Given the description of an element on the screen output the (x, y) to click on. 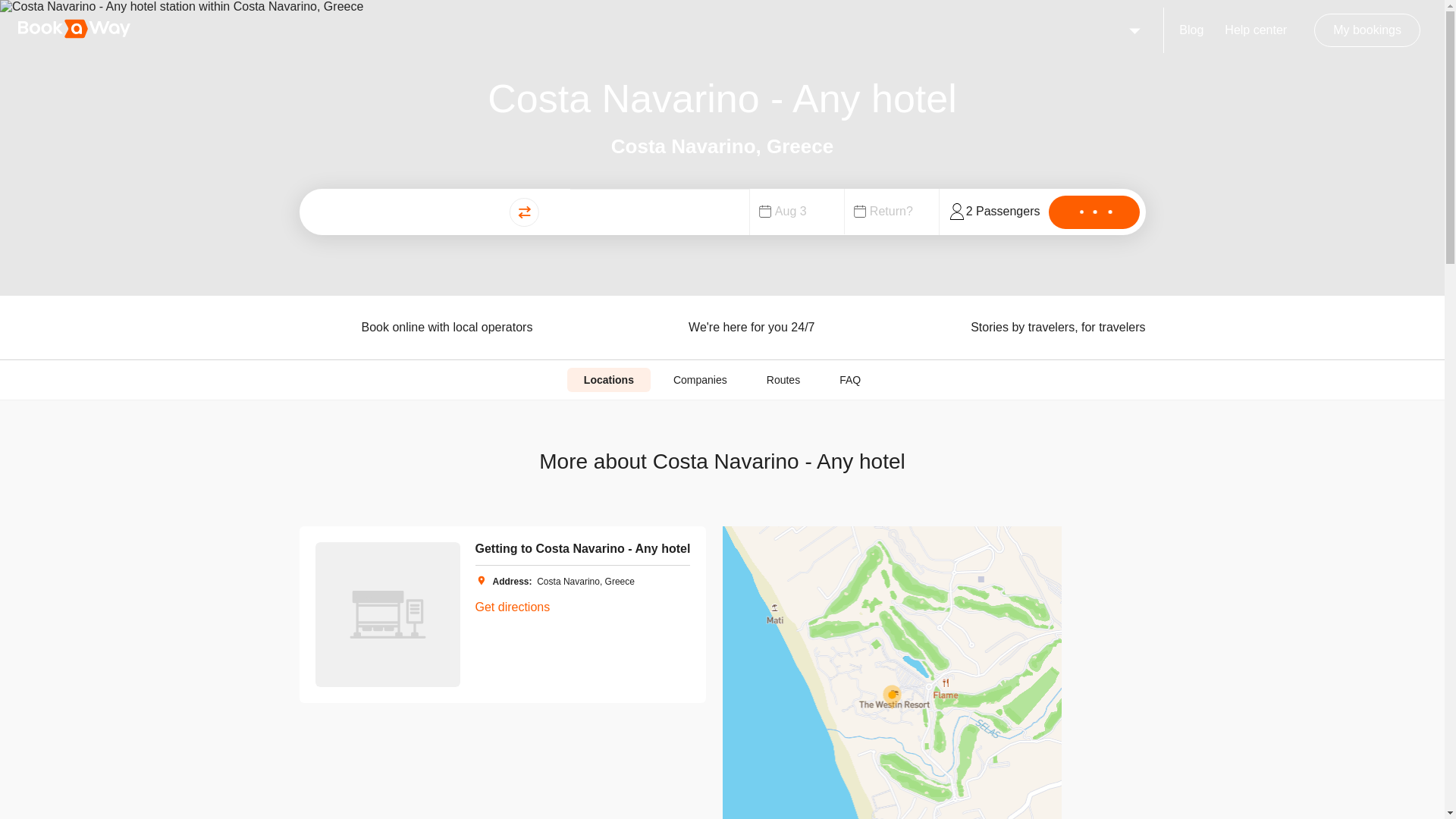
Aug 3 (801, 211)
Routes (782, 379)
FAQ (849, 379)
My bookings (1367, 29)
Help center (1255, 29)
Companies (700, 379)
My bookings (1367, 29)
Blog (1191, 29)
Locations (608, 379)
Get directions (512, 606)
